Given the description of an element on the screen output the (x, y) to click on. 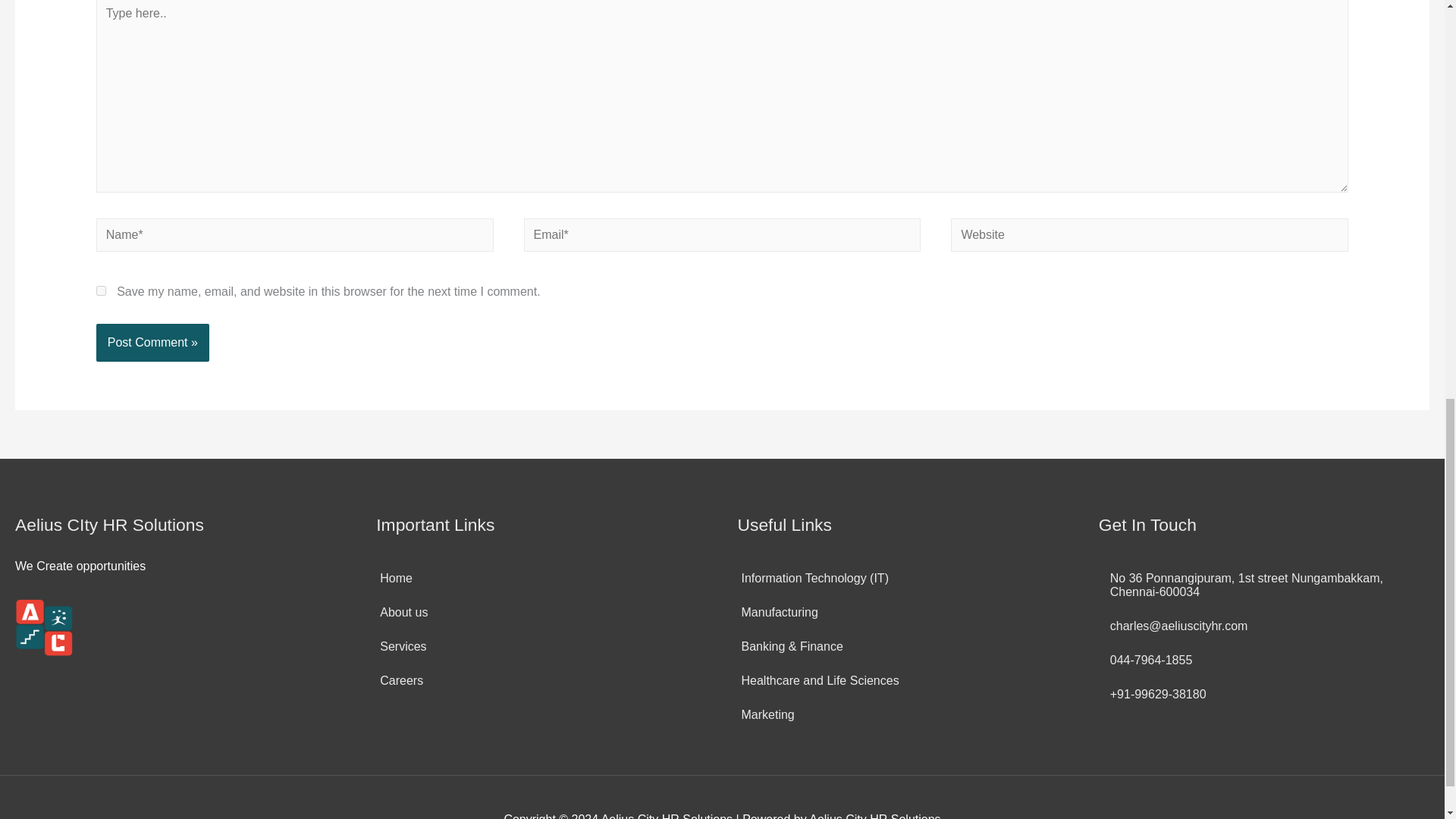
Services (400, 646)
yes (101, 290)
Marketing (764, 714)
Home (393, 578)
About us (401, 612)
Manufacturing (776, 612)
Healthcare and Life Sciences (817, 680)
Careers (399, 680)
No 36 Ponnangipuram, 1st street Nungambakkam, Chennai-600034 (1264, 584)
